Given the description of an element on the screen output the (x, y) to click on. 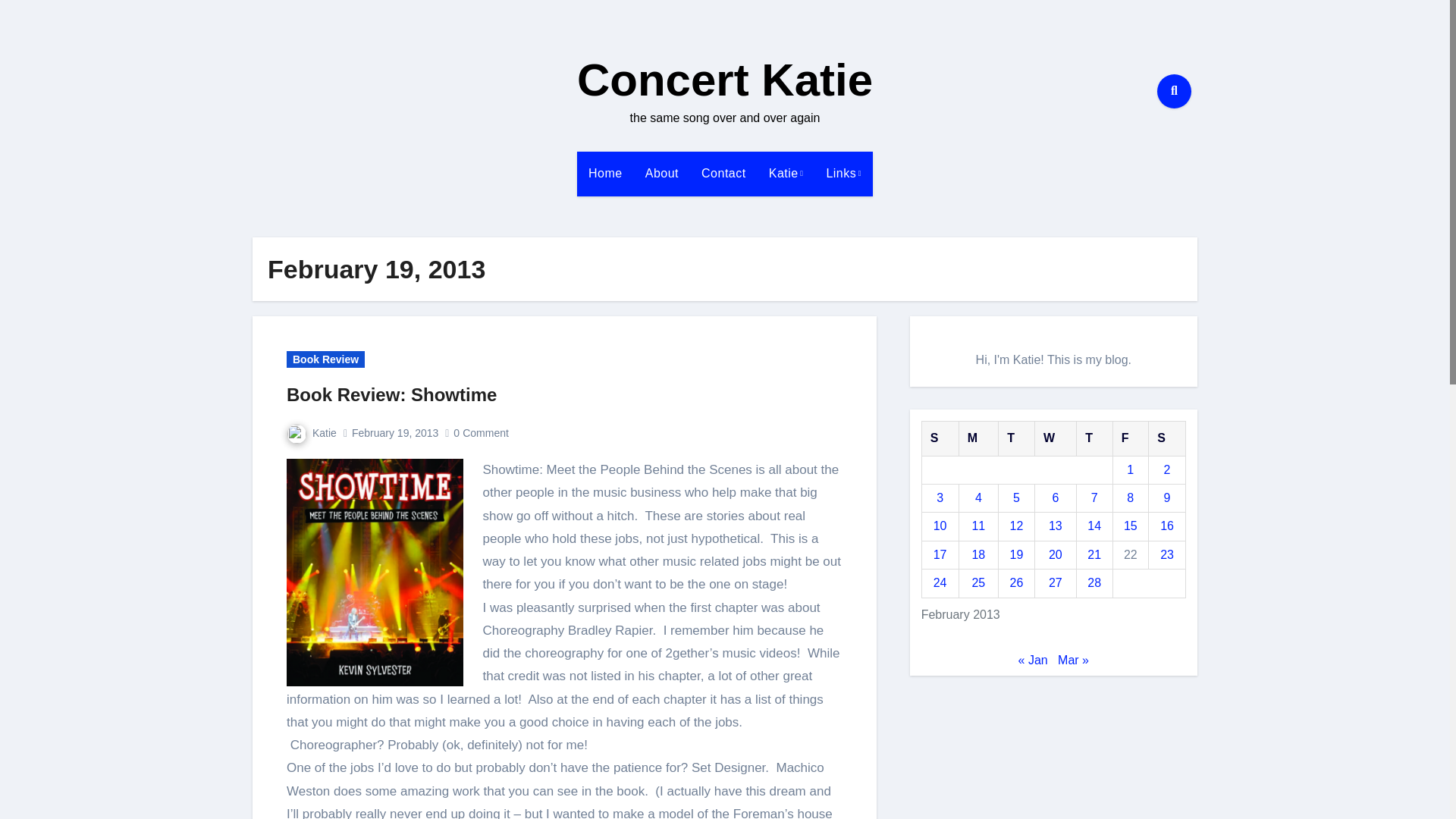
Home (604, 173)
Sunday (939, 438)
February 19, 2013 (395, 432)
Links (842, 173)
Friday (1130, 438)
About (661, 173)
Book Review (325, 359)
Book Review: Showtime (391, 394)
Monday (978, 438)
Thursday (1093, 438)
Concert Katie (724, 79)
Tuesday (1016, 438)
Saturday (1167, 438)
Katie (311, 432)
Contact (723, 173)
